Given the description of an element on the screen output the (x, y) to click on. 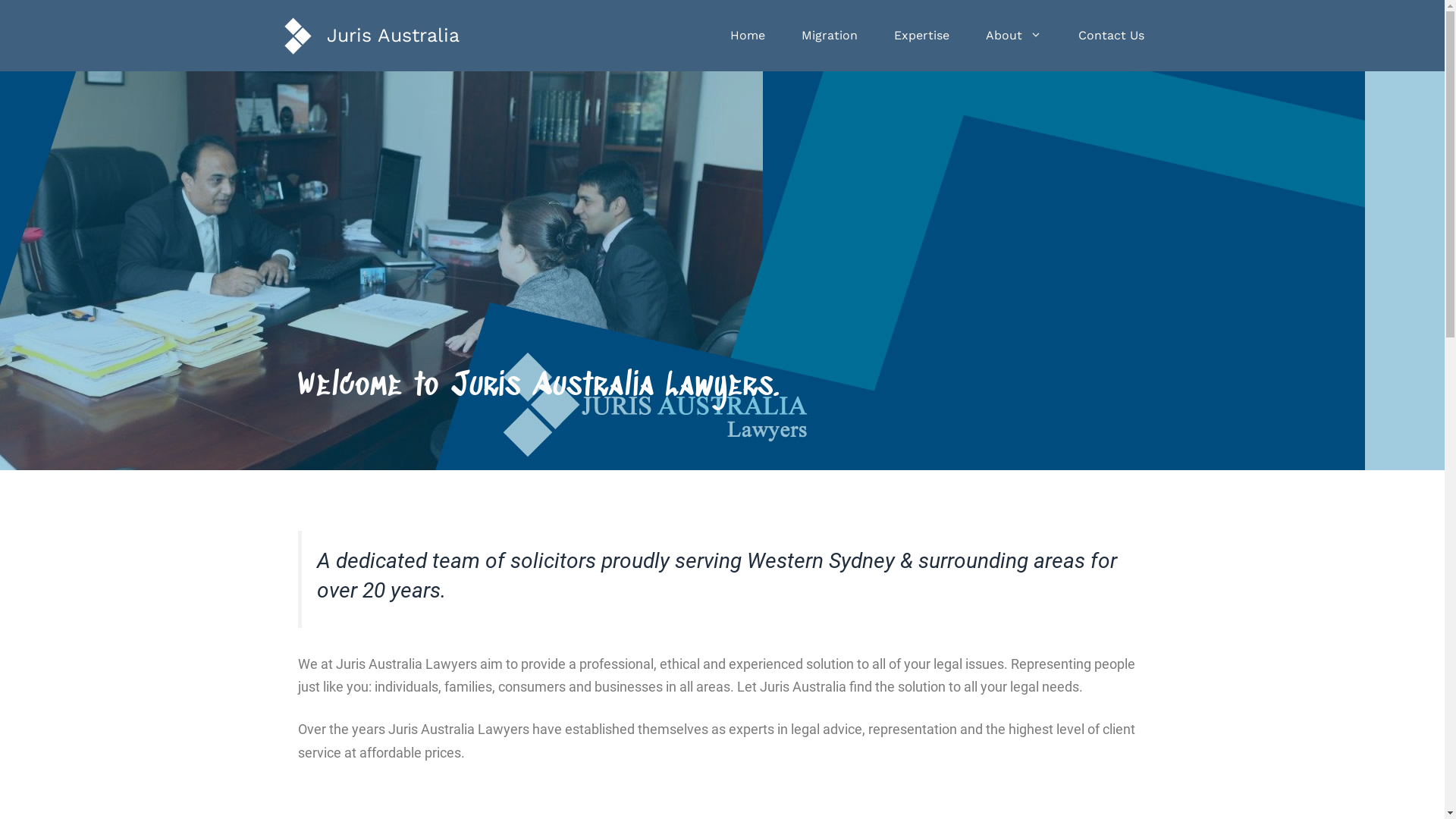
Contact Us Element type: text (1111, 35)
Juris Australia Element type: hover (297, 35)
Expertise Element type: text (920, 35)
Migration Element type: text (828, 35)
Home Element type: text (746, 35)
Juris Australia Element type: text (392, 35)
Juris Australia Element type: hover (297, 33)
About Element type: text (1013, 35)
